Given the description of an element on the screen output the (x, y) to click on. 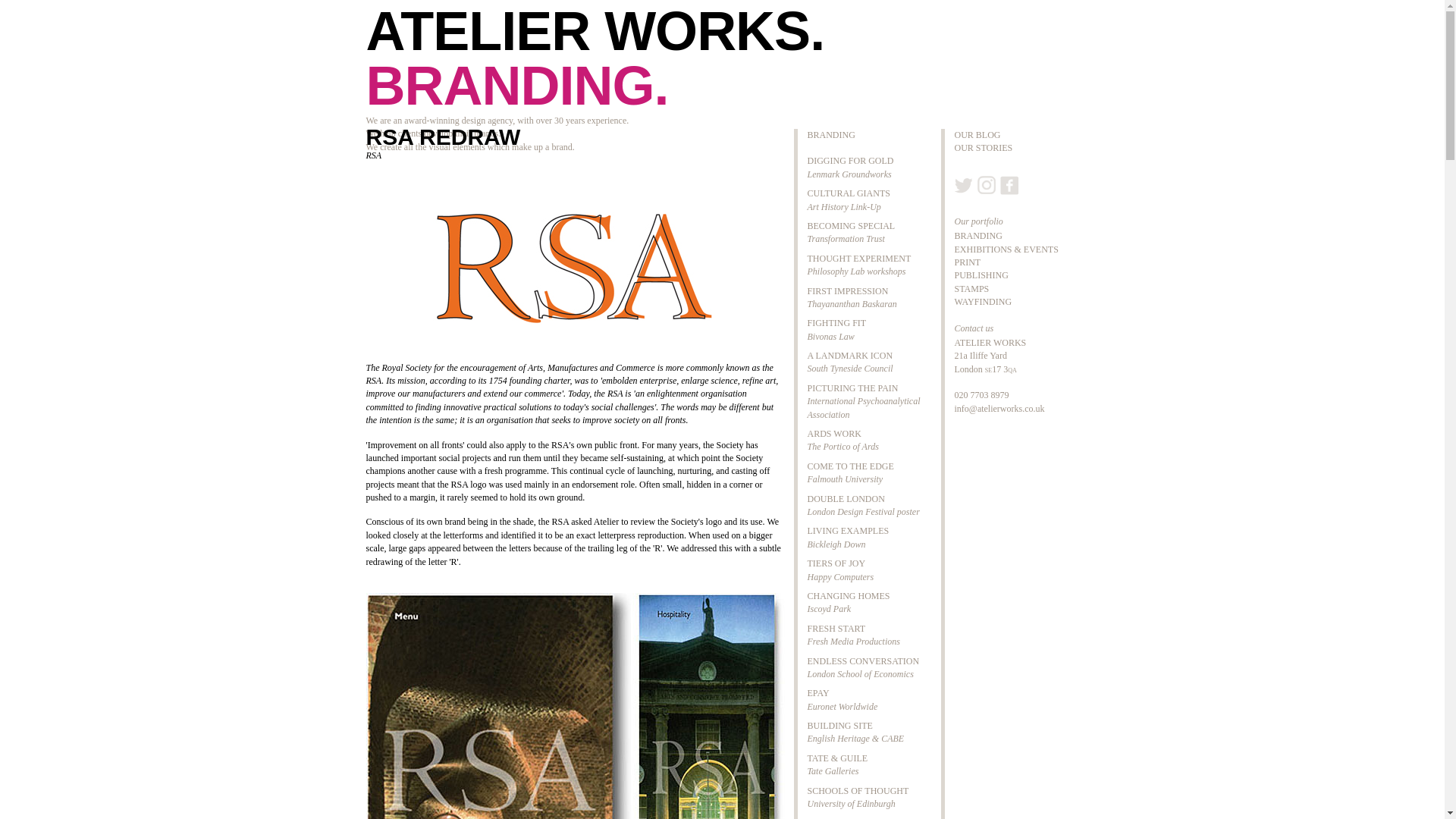
BRANDING (858, 264)
